Given the description of an element on the screen output the (x, y) to click on. 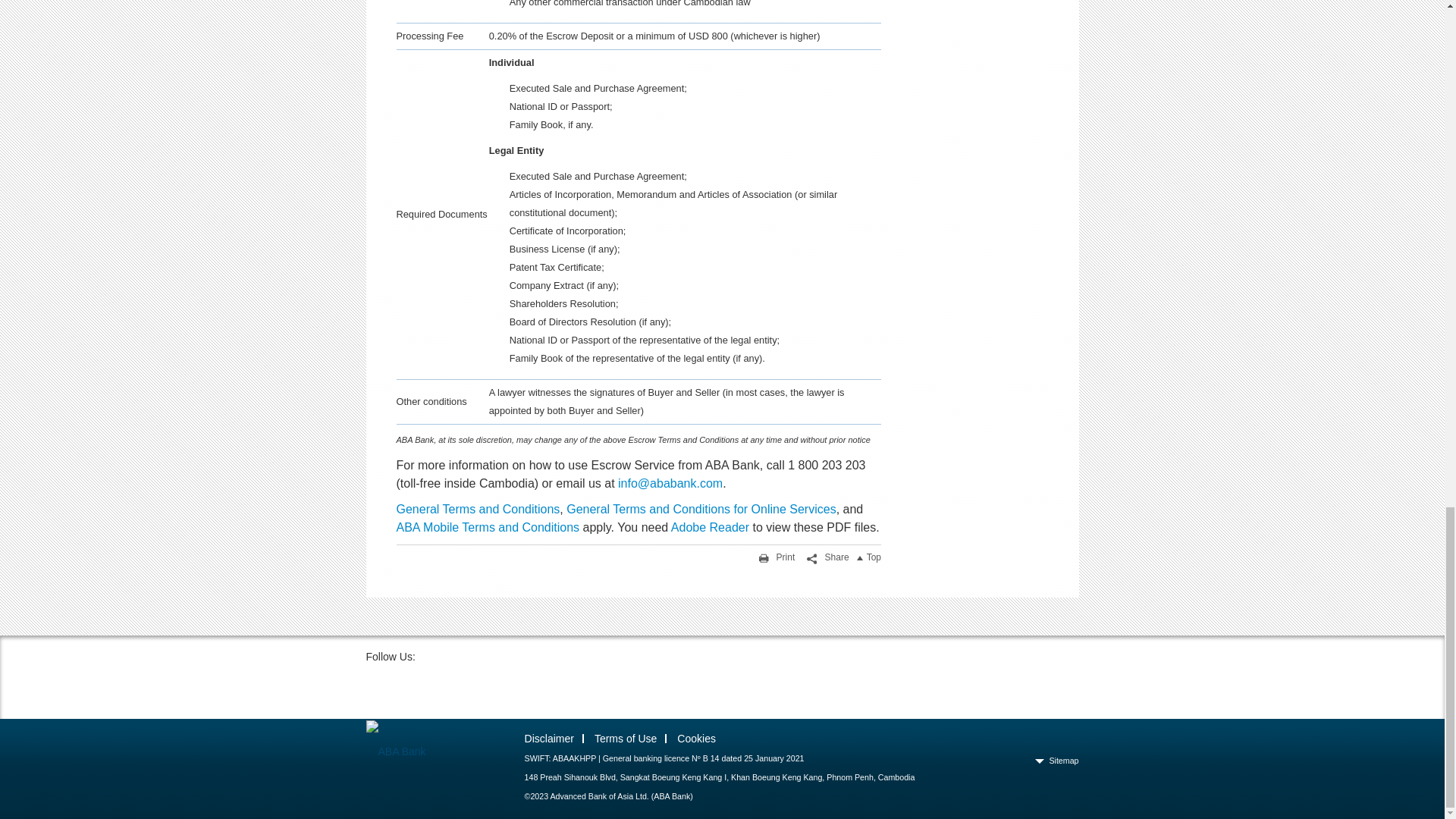
Opens external link in new window (710, 526)
ABA Tiktok (425, 686)
Initiates file download (700, 508)
ABA Facebook (381, 686)
Print (774, 557)
Share (825, 557)
Initiates file download (487, 526)
Top (871, 557)
Initiates file download (477, 508)
